Given the description of an element on the screen output the (x, y) to click on. 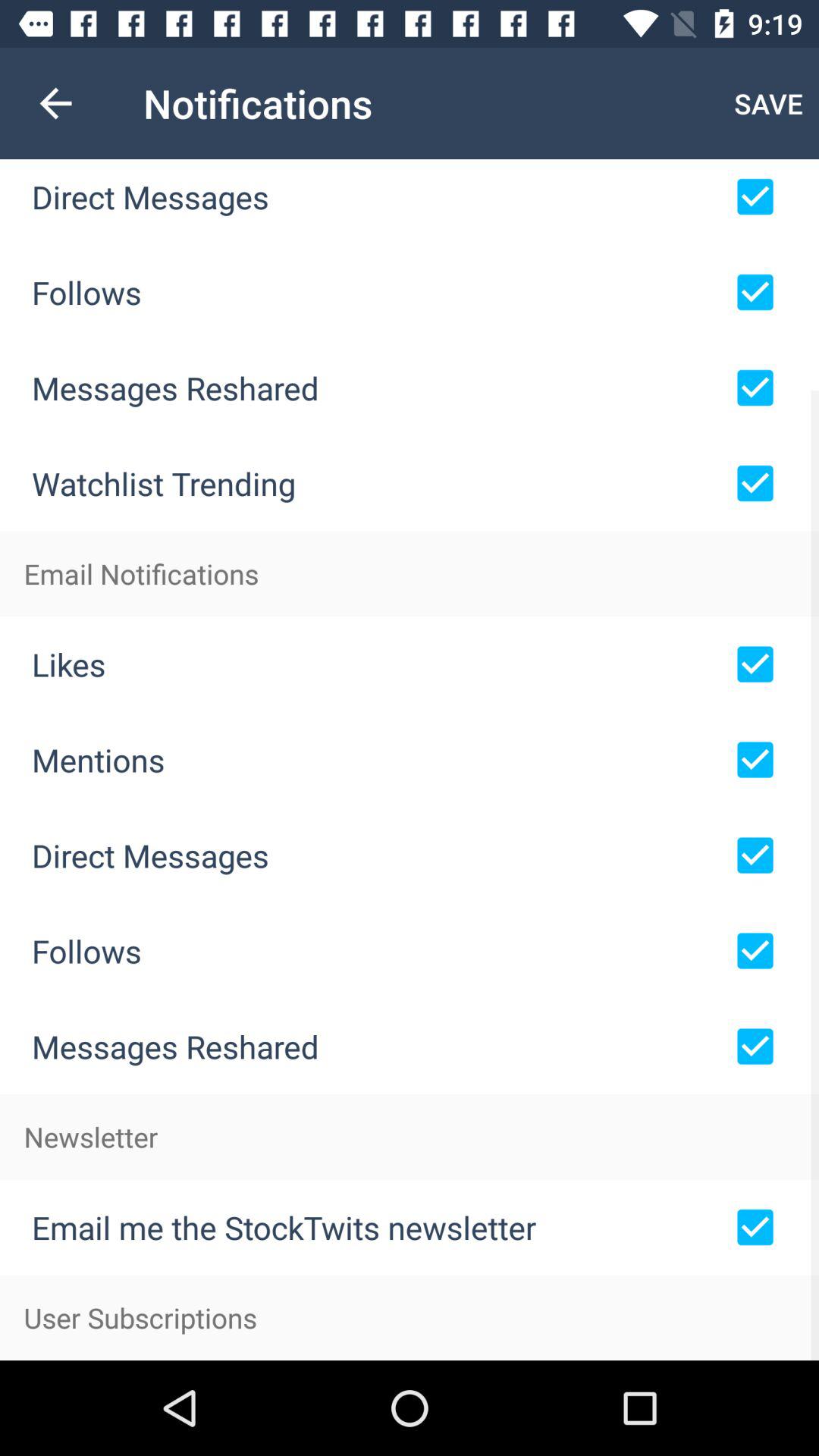
choose the icon next to the notifications (55, 103)
